Given the description of an element on the screen output the (x, y) to click on. 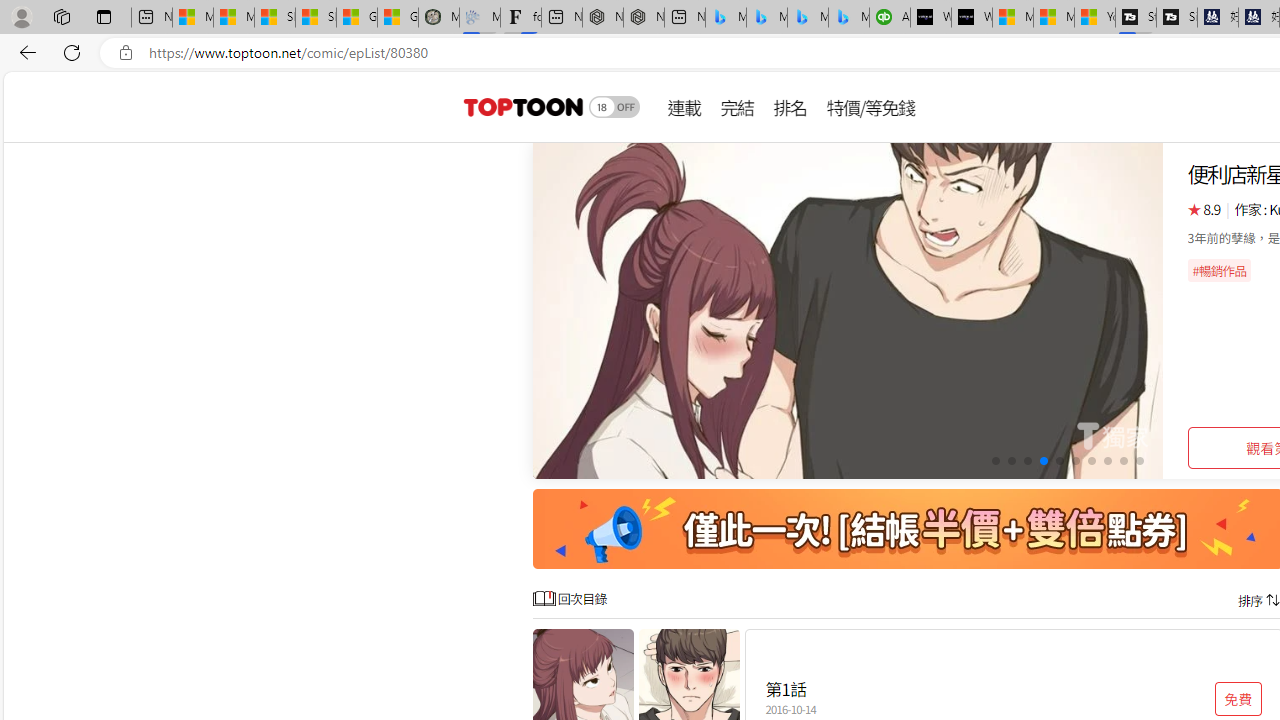
Class: swiper-slide swiper-slide-next (847, 310)
Go to slide 5 (1058, 461)
Go to slide 2 (1011, 461)
Go to slide 1 (994, 461)
Go to slide 4 (1043, 461)
